Given the description of an element on the screen output the (x, y) to click on. 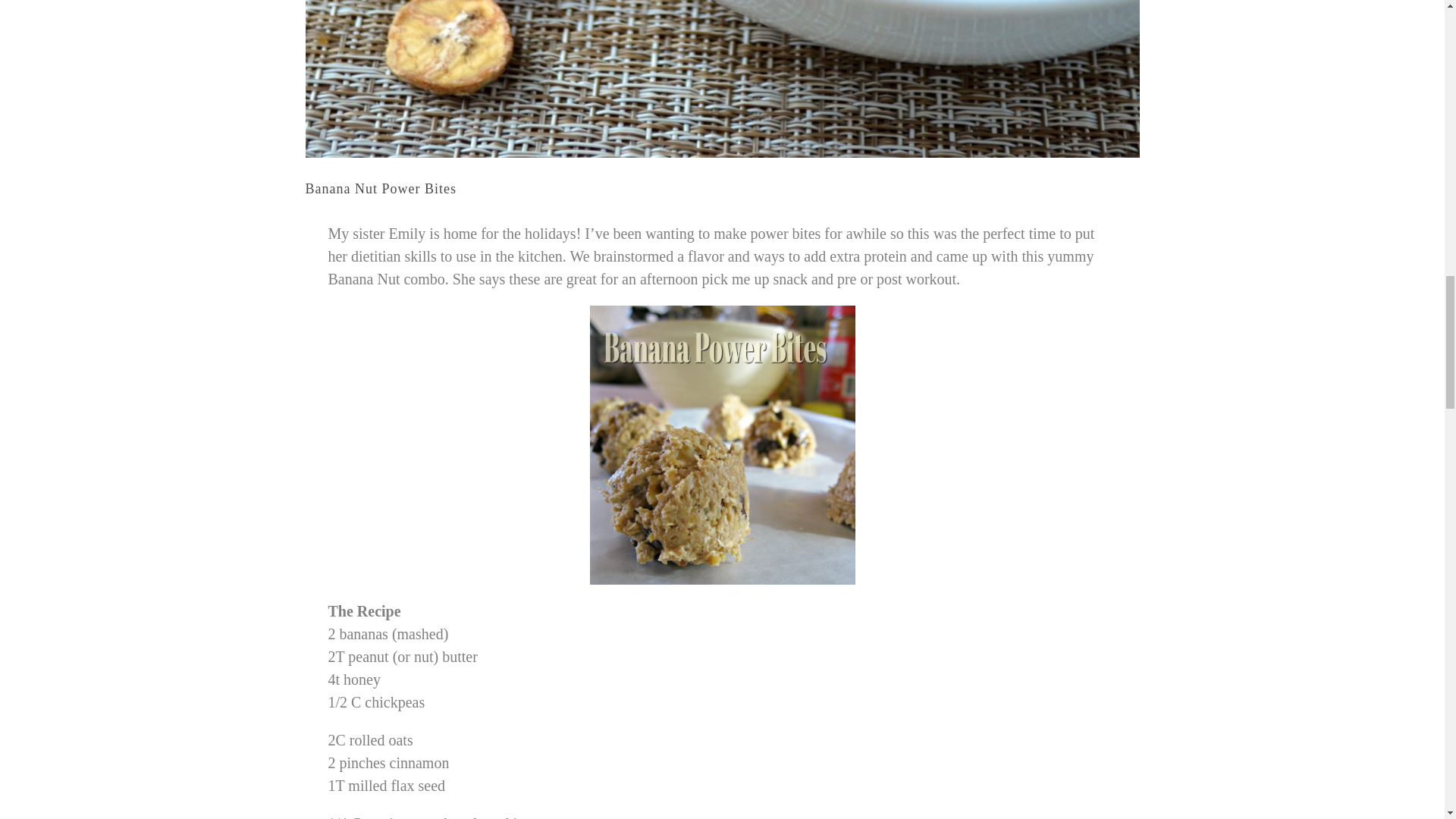
View Larger Image (721, 79)
